Given the description of an element on the screen output the (x, y) to click on. 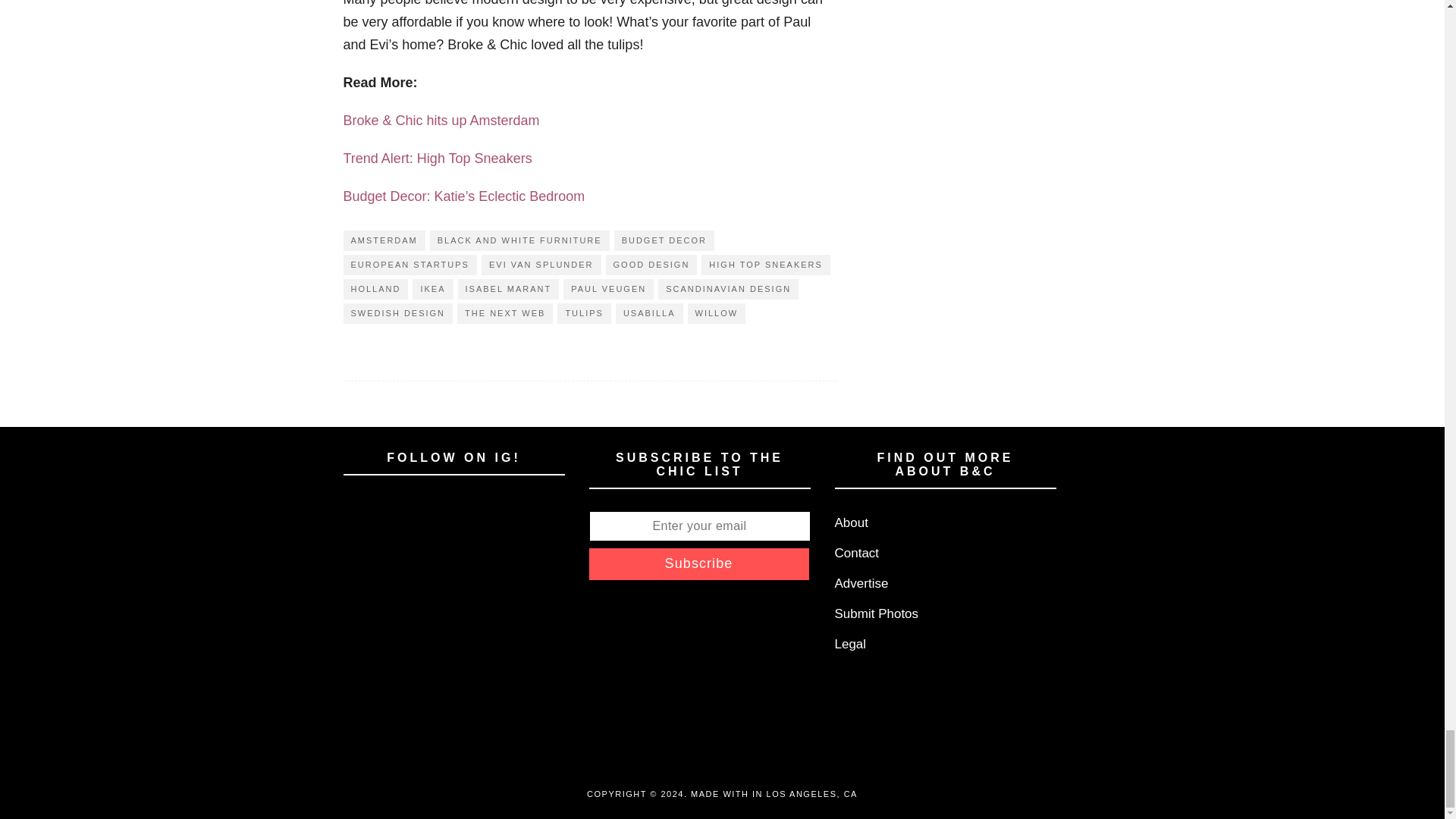
PAUL VEUGEN (608, 289)
HOLLAND (374, 289)
WILLOW (716, 313)
EVI VAN SPLUNDER (541, 264)
BLACK AND WHITE FURNITURE (519, 240)
BUDGET DECOR (664, 240)
SCANDINAVIAN DESIGN (727, 289)
HIGH TOP SNEAKERS (765, 264)
ISABEL MARANT (508, 289)
GOOD DESIGN (651, 264)
